Given the description of an element on the screen output the (x, y) to click on. 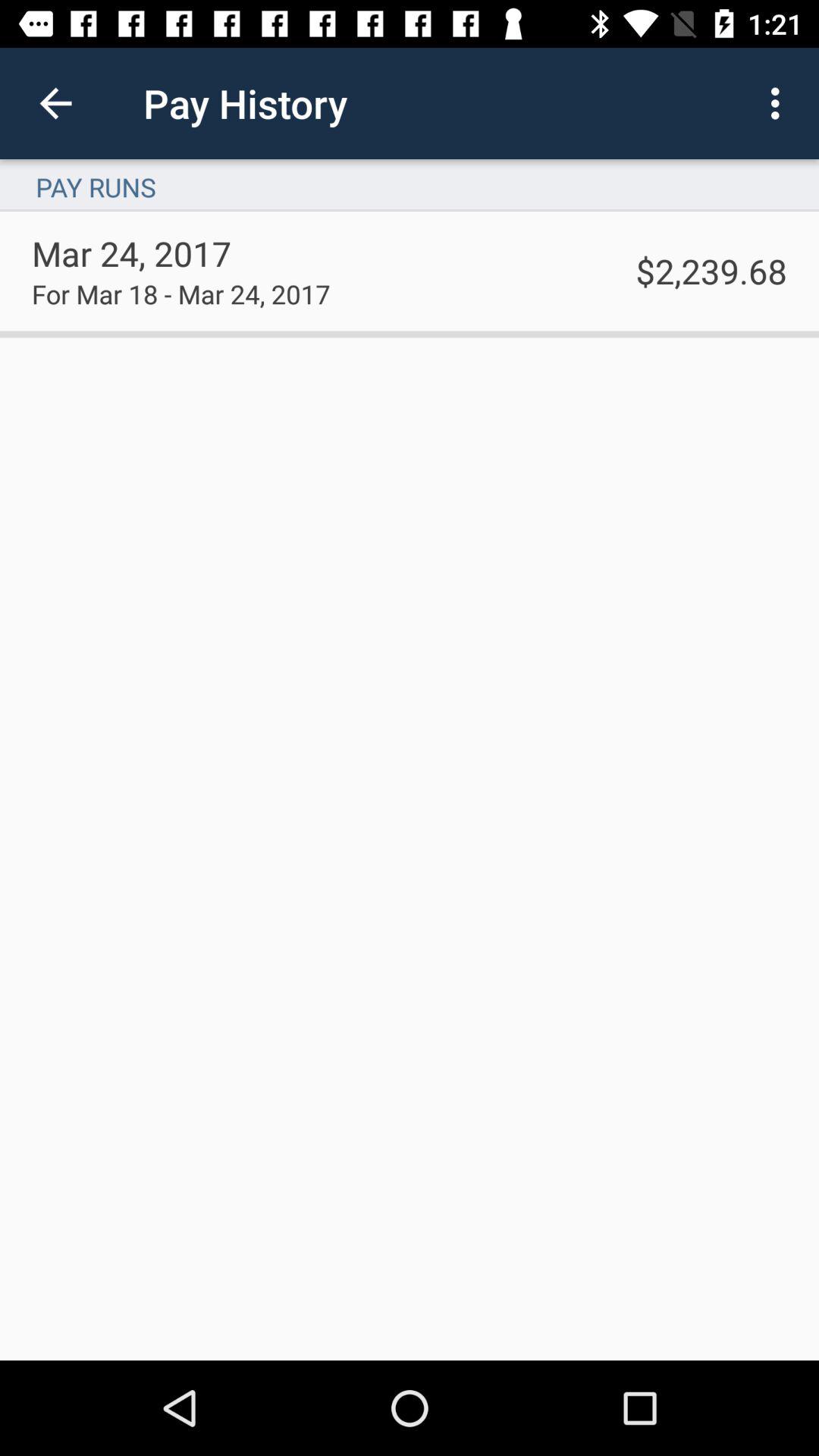
turn off the item to the left of $2,239.68 icon (180, 293)
